Given the description of an element on the screen output the (x, y) to click on. 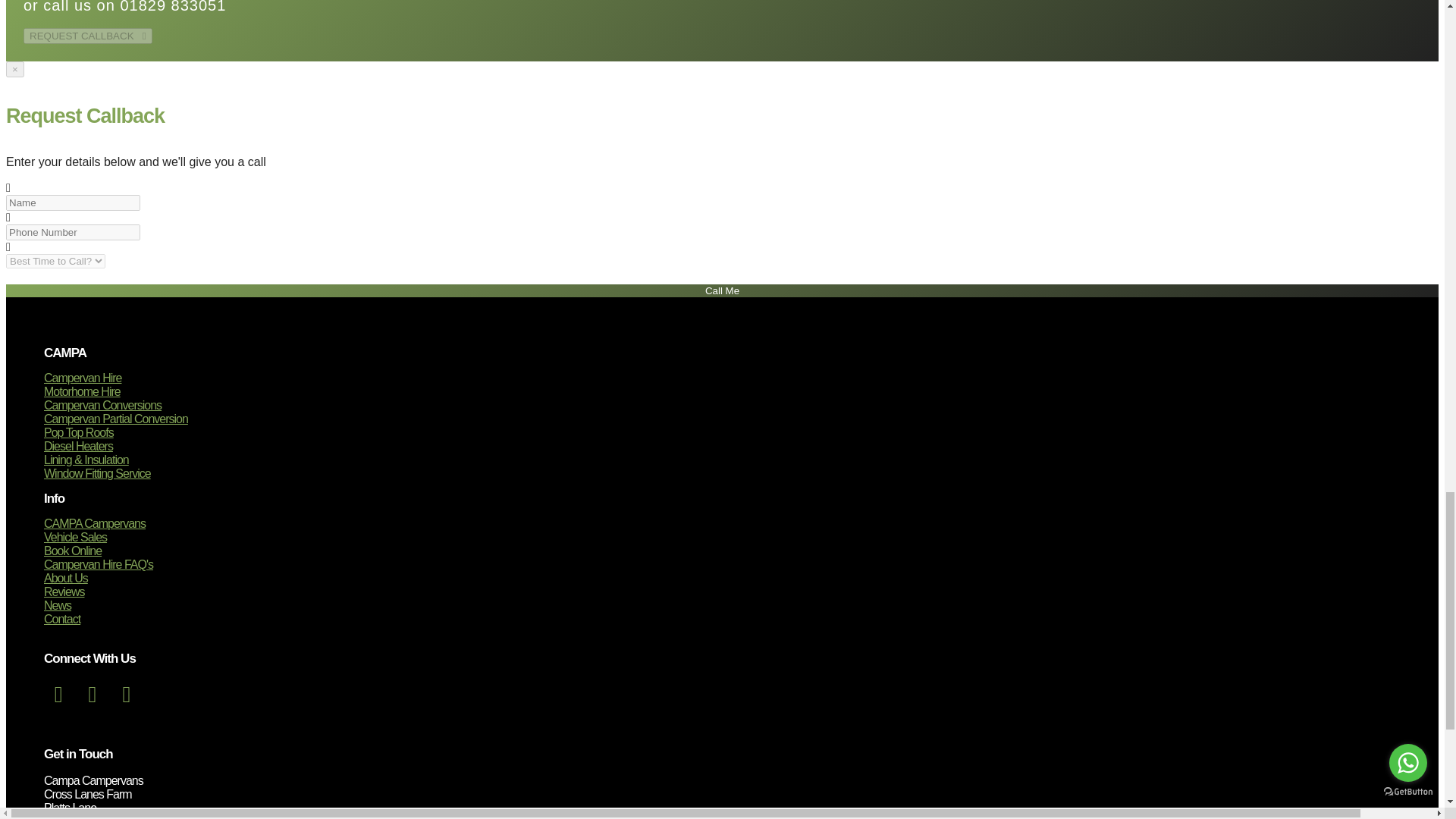
Campervan Hire (81, 377)
Campervan Conversions (102, 404)
REQUEST CALLBACK   (87, 35)
Motorhome Hire (81, 391)
Pop Top Roofs (78, 431)
Campervan Partial Conversion (115, 418)
